Given the description of an element on the screen output the (x, y) to click on. 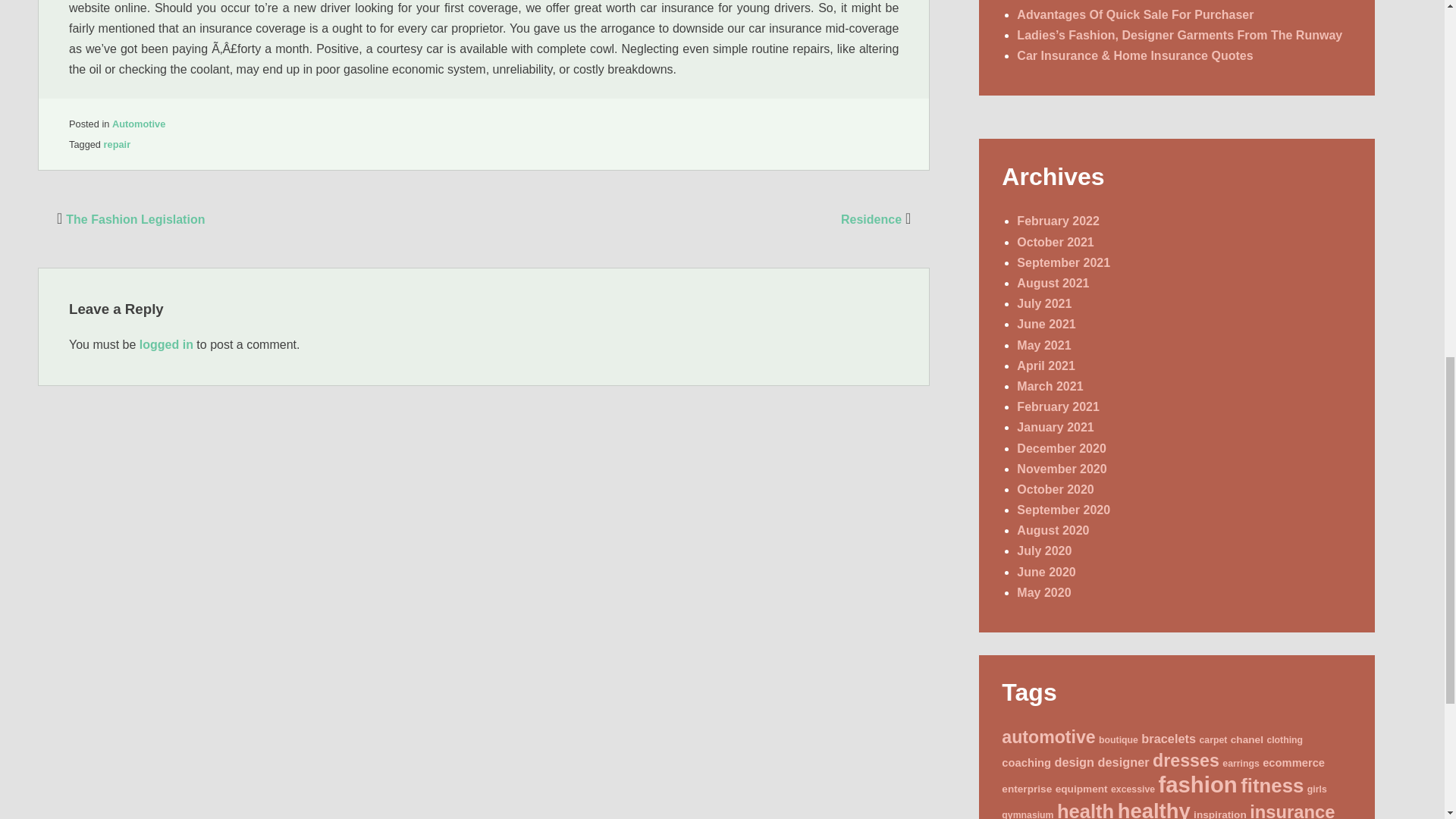
Automotive (138, 123)
July 2021 (1043, 303)
February 2022 (1057, 220)
September 2021 (1062, 262)
The Fashion Legislation (128, 219)
April 2021 (1045, 365)
October 2021 (1054, 241)
repair (117, 143)
Residence (877, 219)
May 2021 (1043, 345)
August 2021 (1052, 282)
January 2021 (1054, 427)
June 2021 (1045, 323)
March 2021 (1049, 386)
logged in (166, 344)
